Given the description of an element on the screen output the (x, y) to click on. 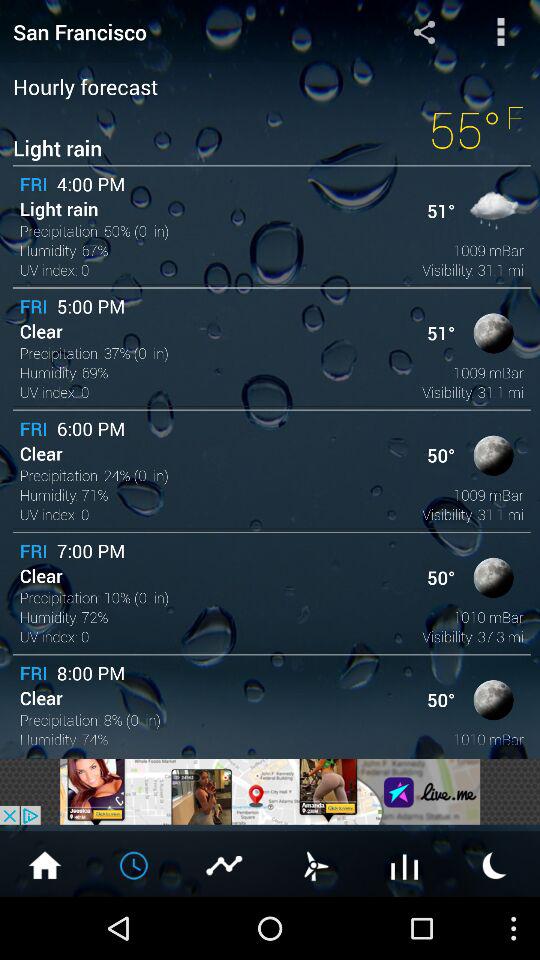
hourly weather (135, 864)
